Given the description of an element on the screen output the (x, y) to click on. 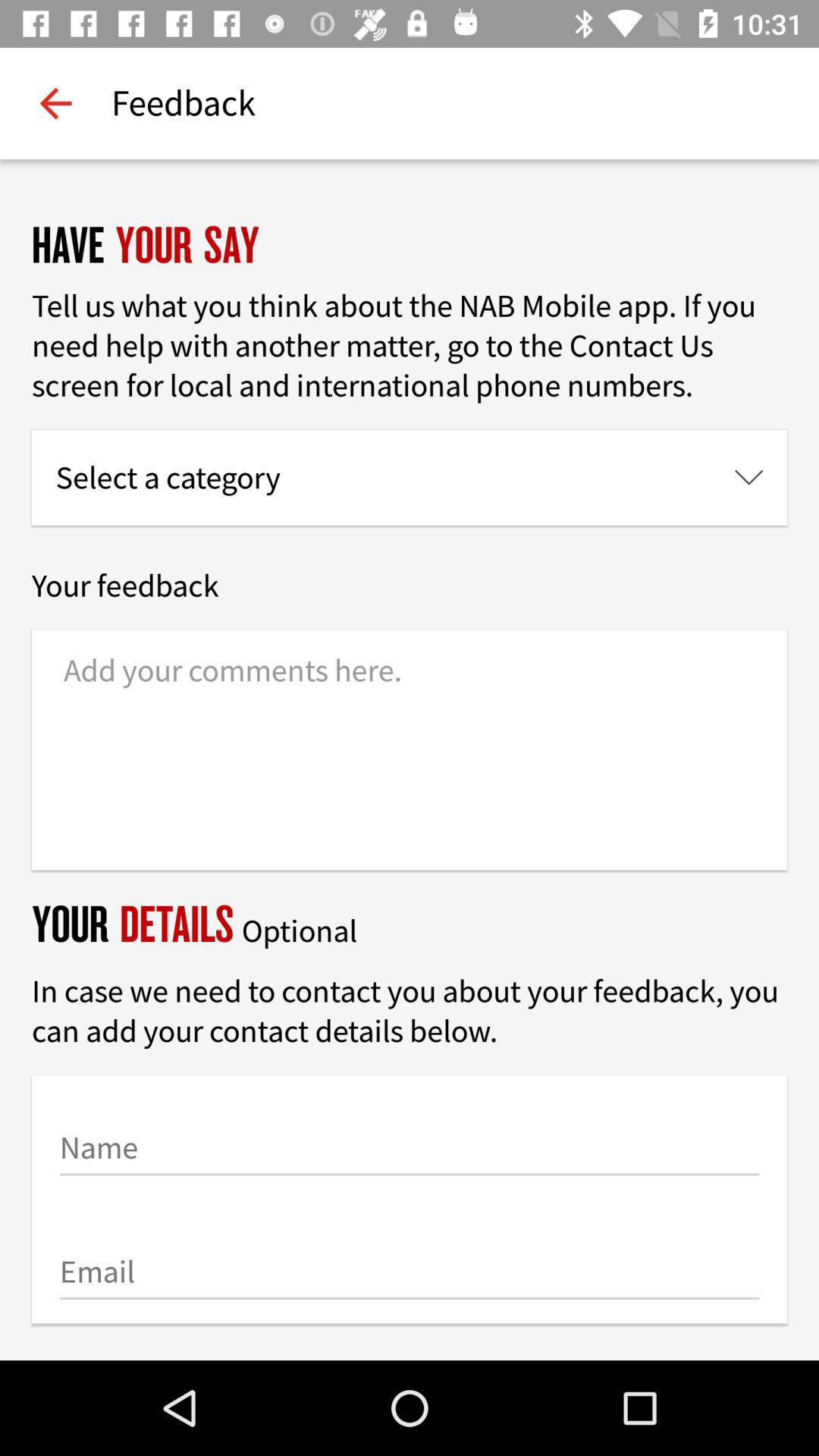
enter your feedback here (409, 750)
